Given the description of an element on the screen output the (x, y) to click on. 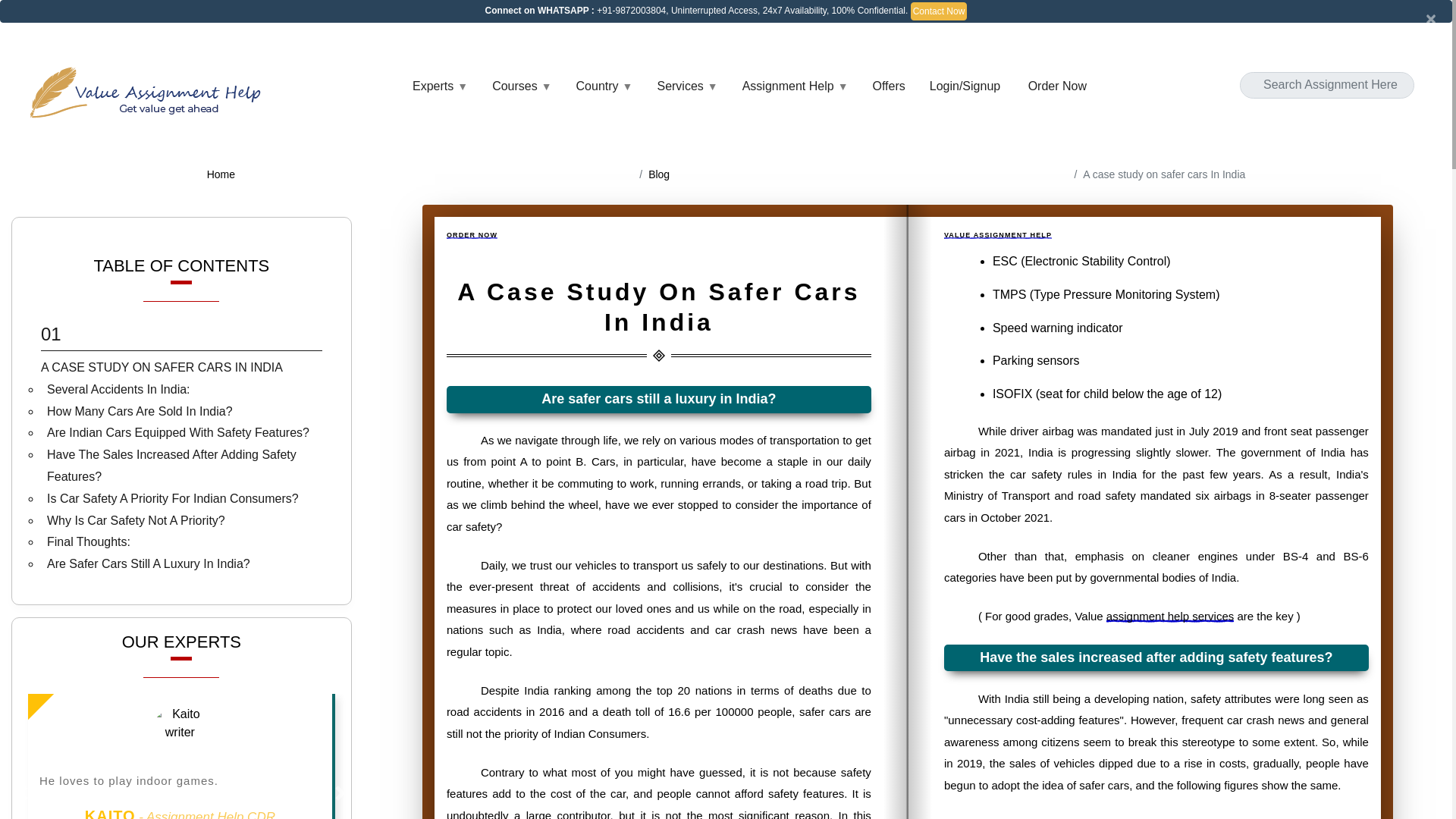
Experts (439, 85)
Value Assignment help (148, 91)
Contact Now (939, 11)
